Given the description of an element on the screen output the (x, y) to click on. 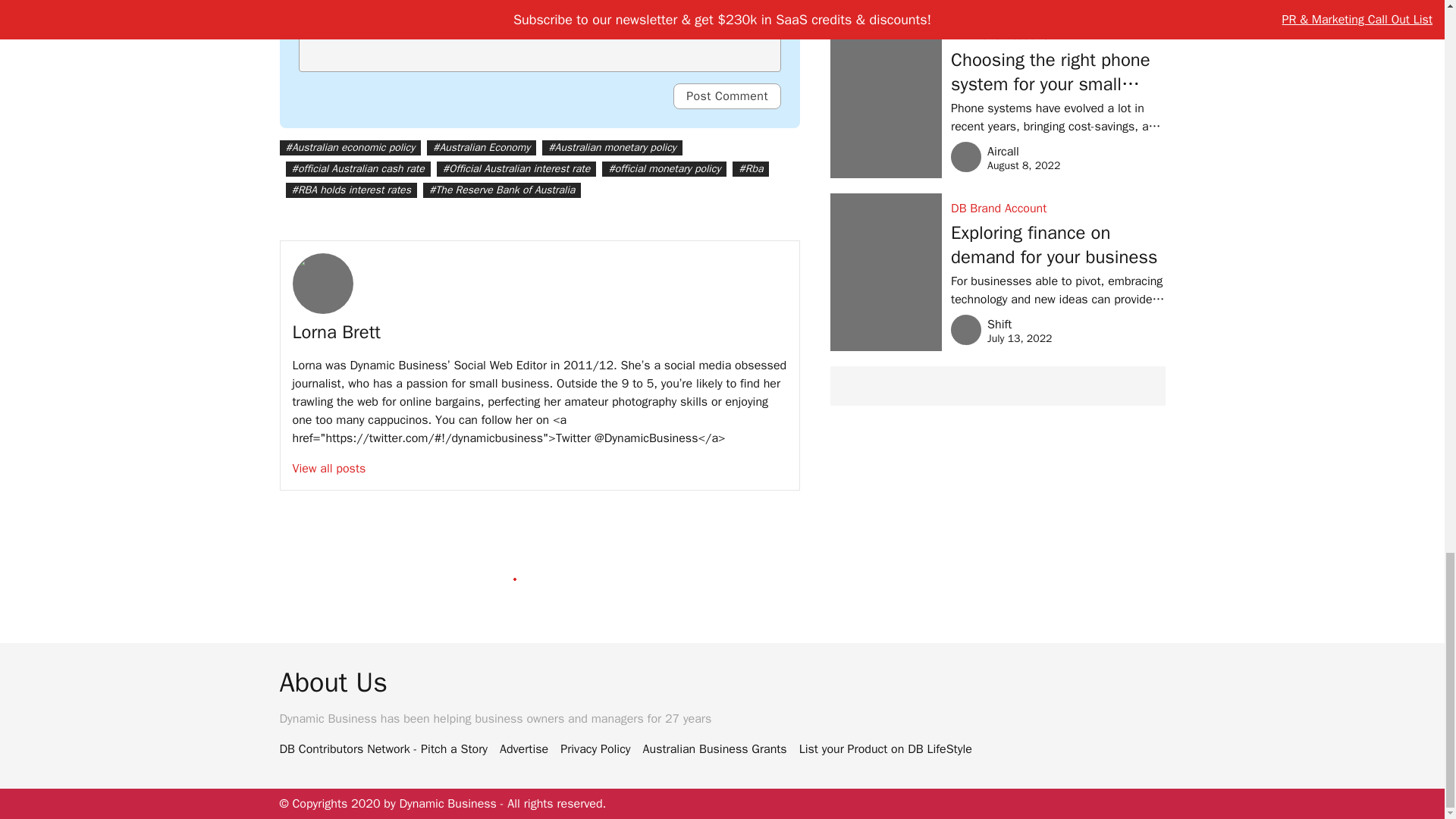
Post Comment (726, 95)
